Given the description of an element on the screen output the (x, y) to click on. 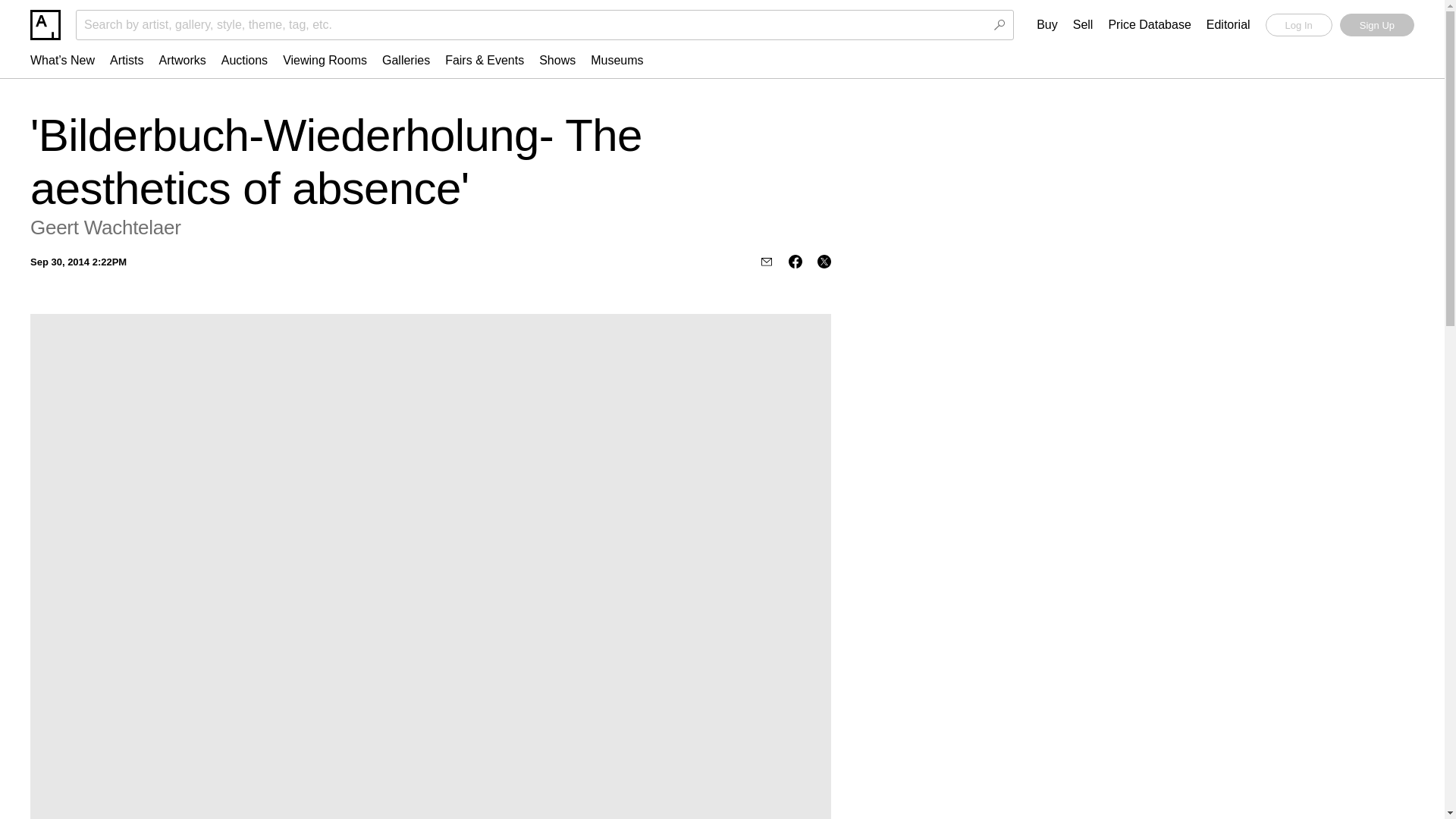
Sell (1082, 25)
Share via email (766, 261)
Share on X (823, 261)
Auctions (244, 59)
Shows (557, 59)
Galleries (406, 59)
Viewing Rooms (324, 59)
Museums (616, 59)
Log In (1298, 24)
